Given the description of an element on the screen output the (x, y) to click on. 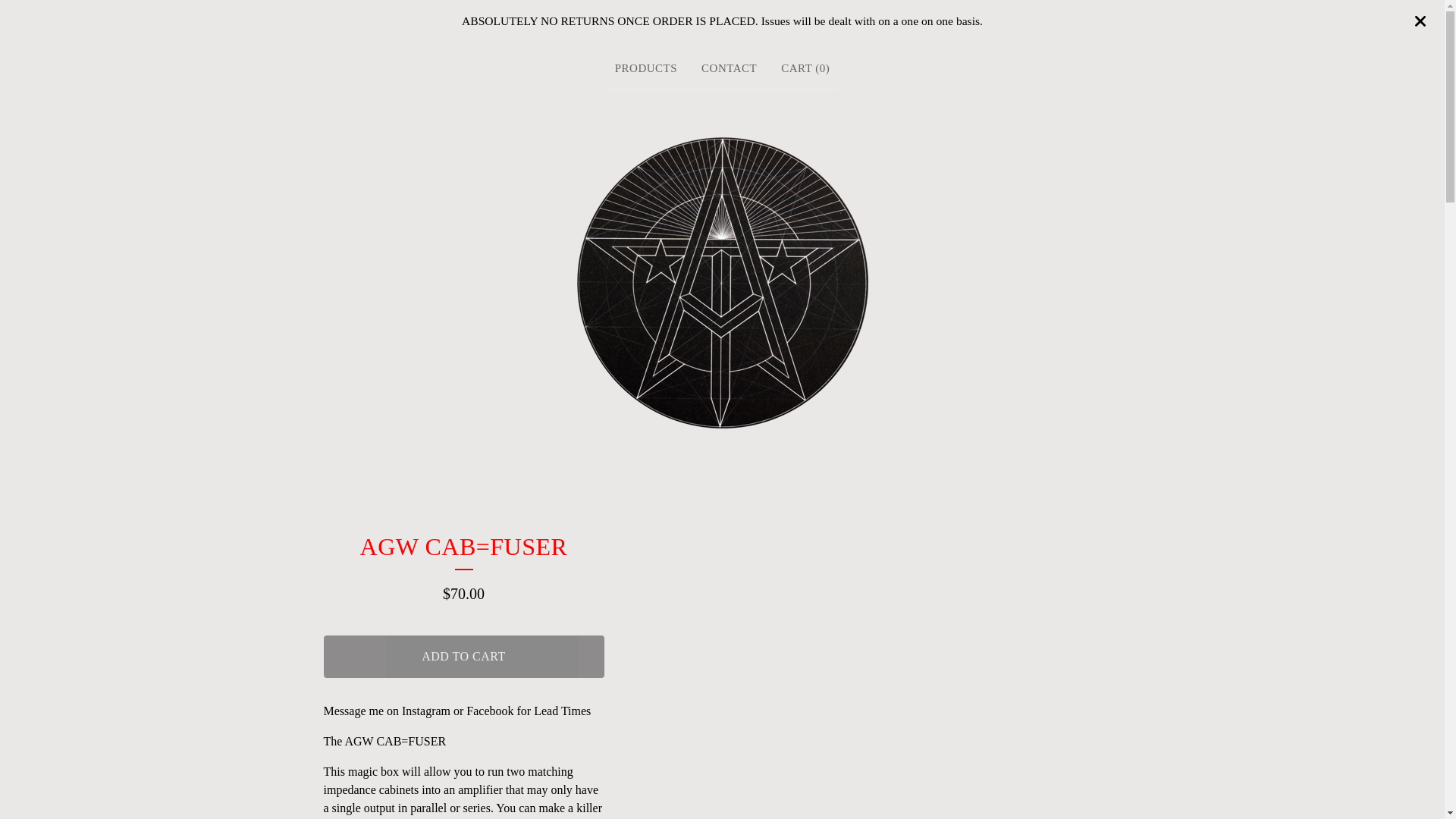
Close announcement message (1419, 21)
CONTACT (728, 68)
PRODUCTS (645, 68)
ADD TO CART (463, 656)
Home (721, 282)
